Given the description of an element on the screen output the (x, y) to click on. 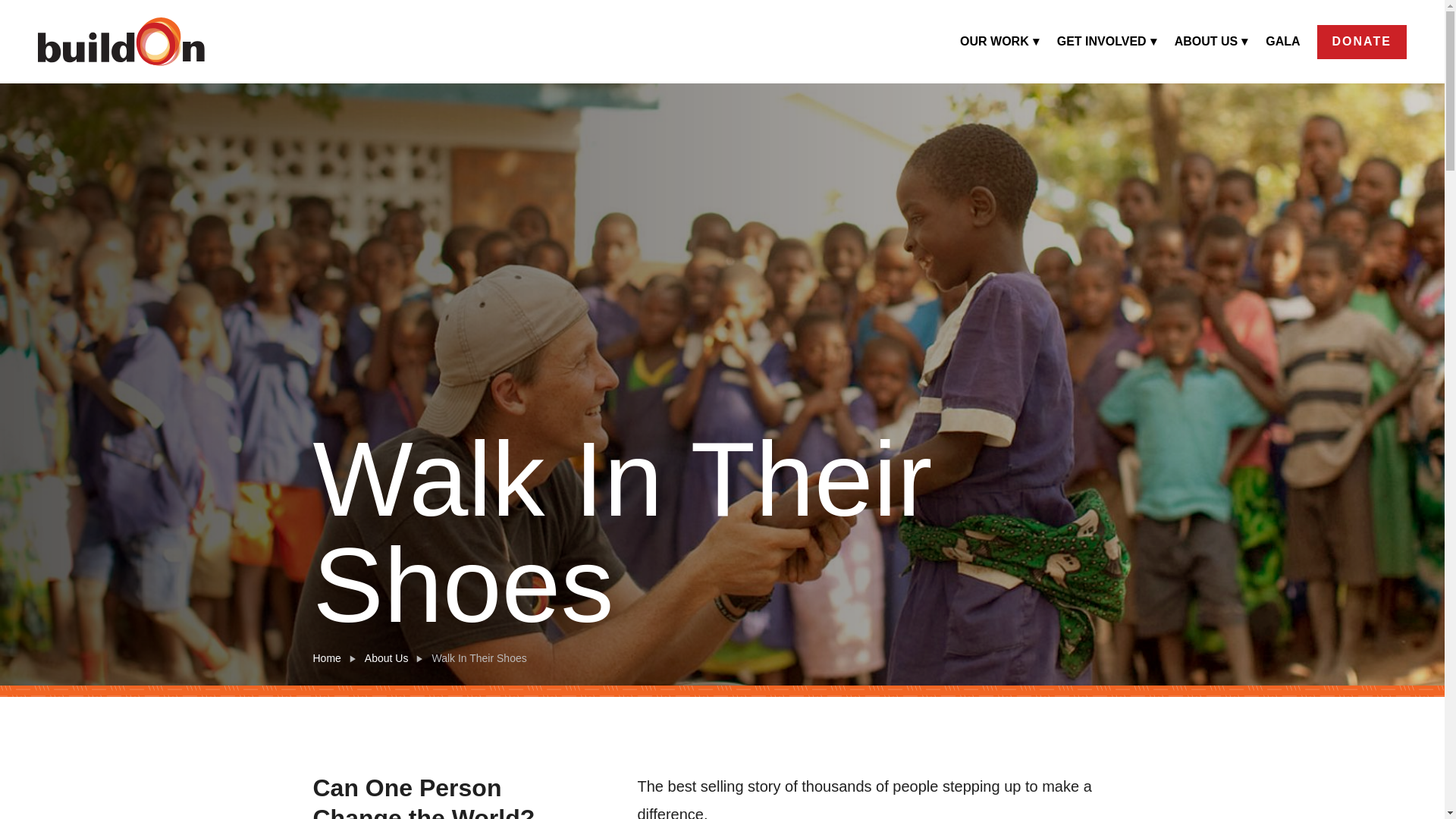
Home (326, 658)
About Us (387, 658)
ABOUT US (1211, 41)
GALA (1282, 41)
homepage (121, 41)
GET INVOLVED (1107, 41)
OUR WORK (999, 41)
DONATE (1361, 41)
